Given the description of an element on the screen output the (x, y) to click on. 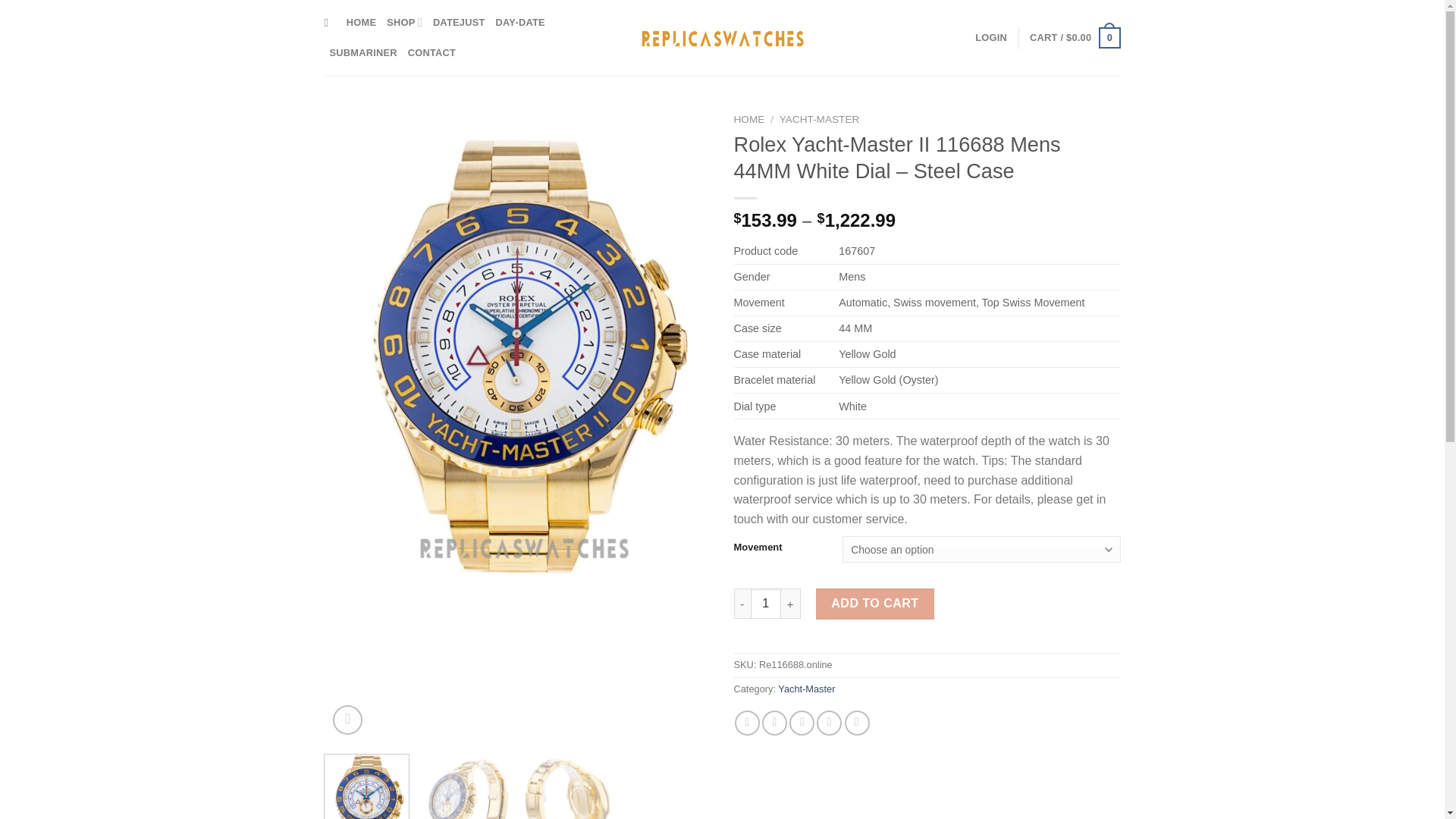
SUBMARINER (362, 52)
CONTACT (431, 52)
SHOP (404, 22)
Zoom (347, 719)
Qty (765, 603)
DATEJUST (458, 22)
DAY-DATE (520, 22)
Cart (1074, 37)
HOME (360, 22)
LOGIN (991, 37)
Share on Facebook (747, 722)
1 (765, 603)
Share on Twitter (774, 722)
